Given the description of an element on the screen output the (x, y) to click on. 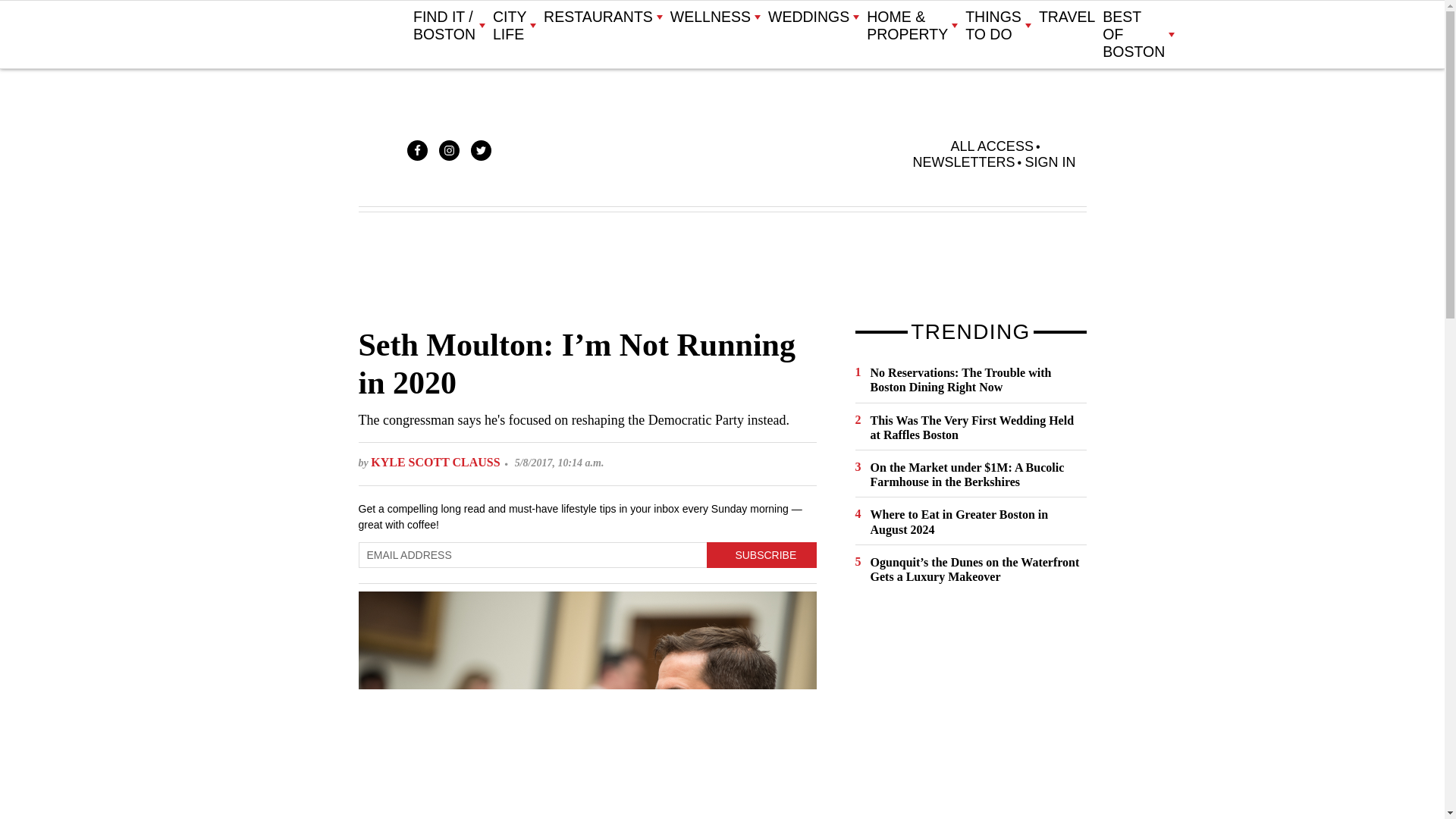
WEDDINGS (813, 16)
Subscribe (761, 555)
3rd party ad content (721, 269)
RESTAURANTS (602, 16)
3rd party ad content (969, 712)
WELLNESS (714, 16)
THINGS TO DO (997, 25)
